Given the description of an element on the screen output the (x, y) to click on. 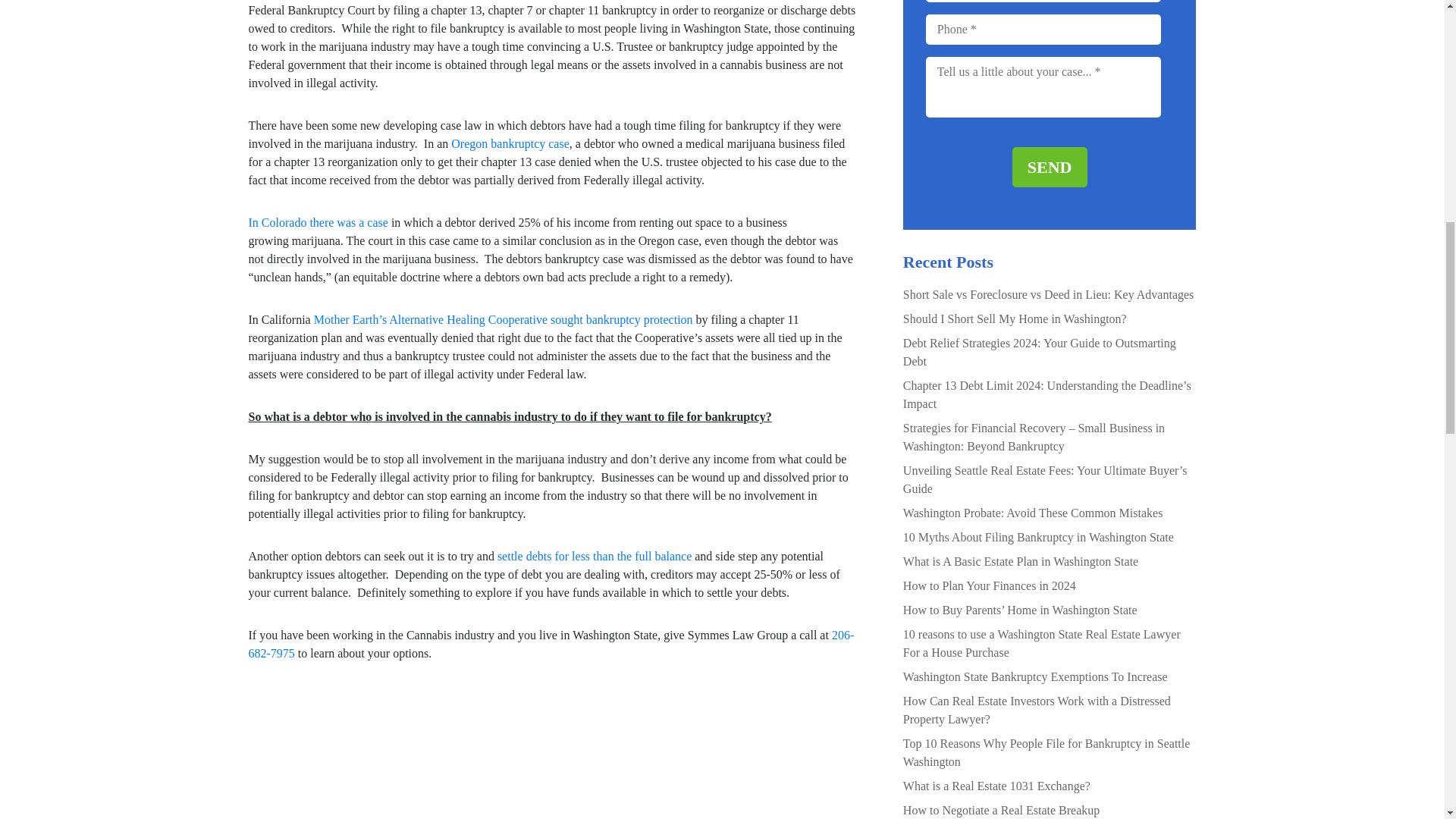
Oregon bankruptcy case (510, 143)
Send (1049, 167)
In Colorado there was a case (318, 222)
